Given the description of an element on the screen output the (x, y) to click on. 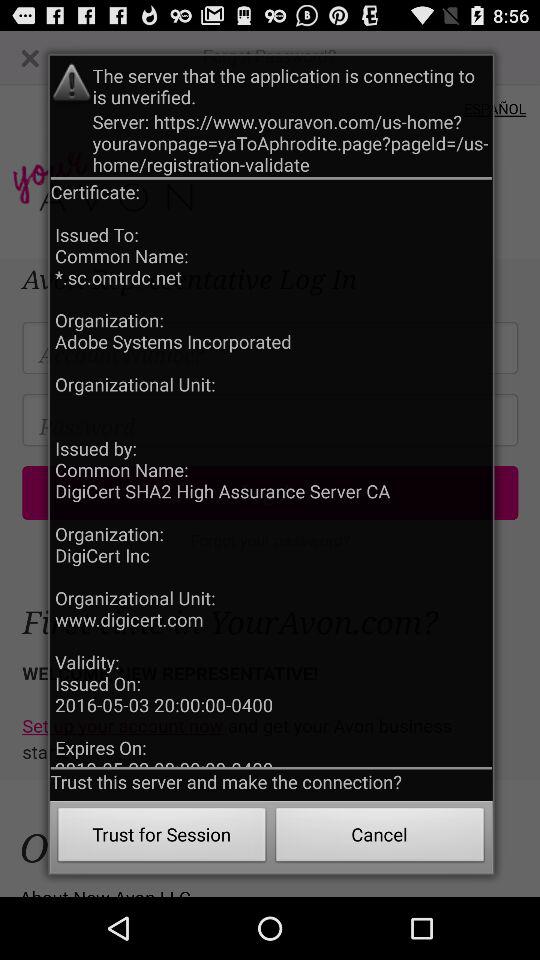
choose button at the bottom right corner (380, 837)
